Given the description of an element on the screen output the (x, y) to click on. 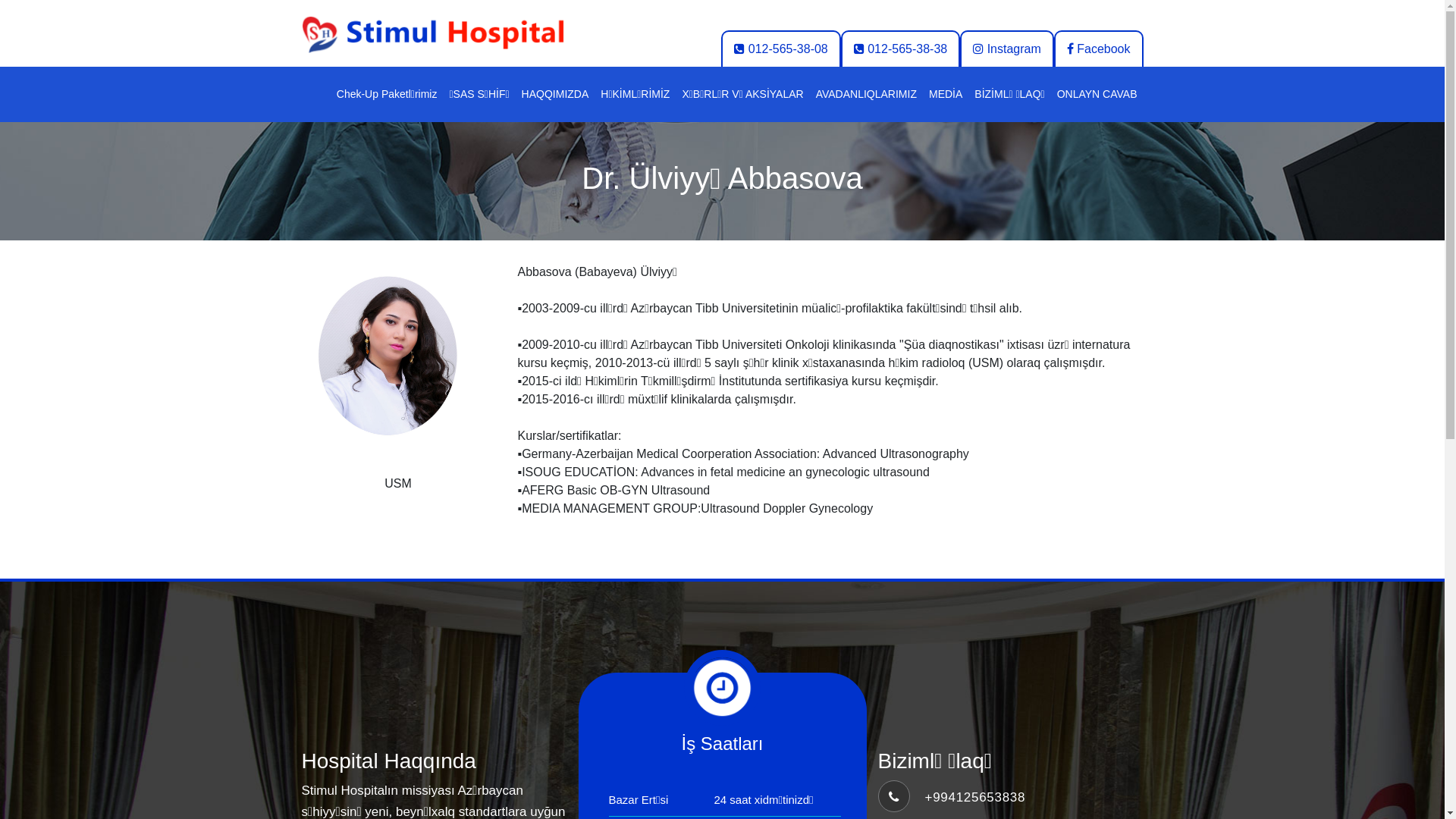
Facebook Element type: text (1098, 48)
AVADANLIQLARIMIZ Element type: text (865, 94)
012-565-38-38 Element type: text (900, 48)
+994125653838 Element type: text (975, 797)
Instagram Element type: text (1007, 48)
ONLAYN CAVAB Element type: text (1097, 94)
012-565-38-08 Element type: text (780, 48)
HAQQIMIZDA Element type: text (555, 94)
